Given the description of an element on the screen output the (x, y) to click on. 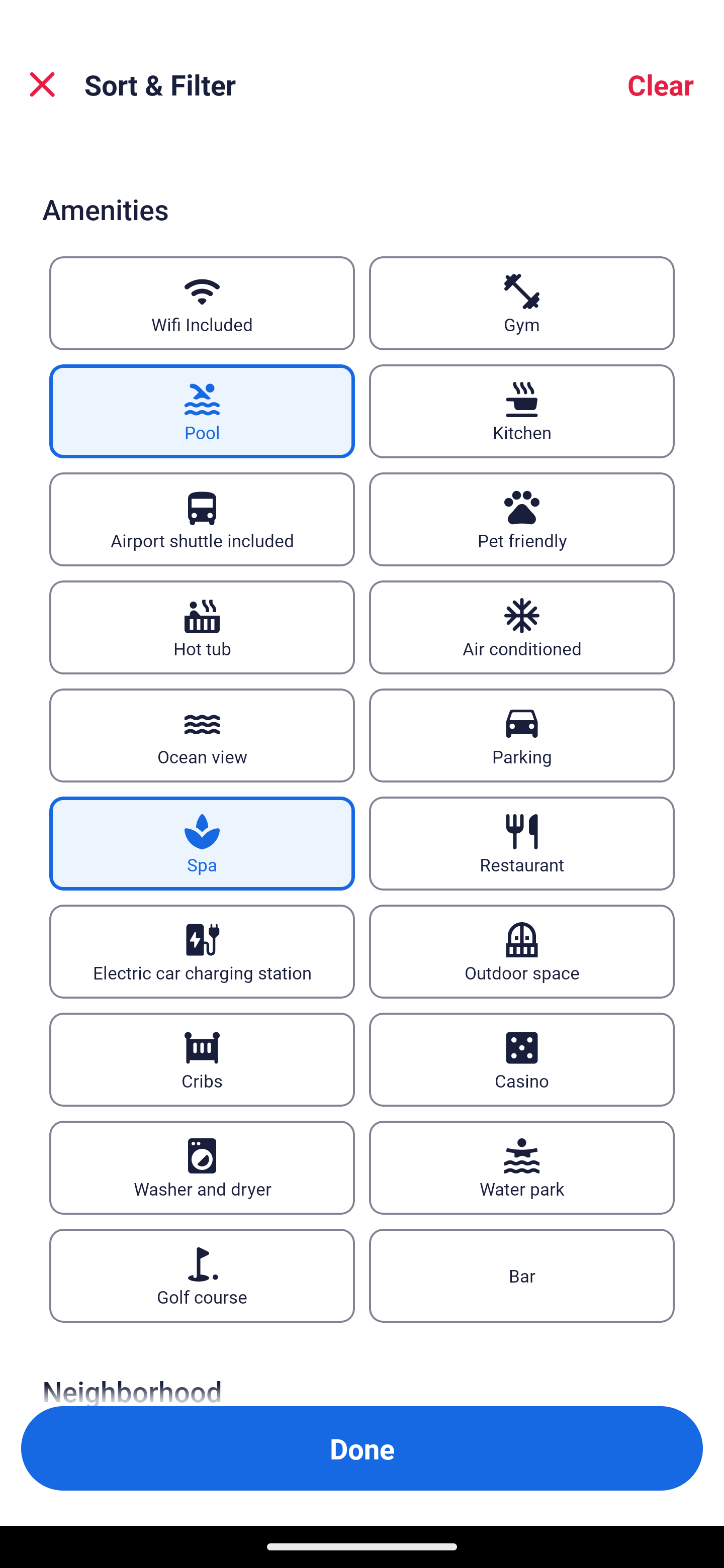
Close Sort and Filter (42, 84)
Clear (660, 84)
Wifi Included (201, 302)
Gym (521, 302)
Pool (201, 410)
Kitchen (521, 410)
Airport shuttle included (201, 518)
Pet friendly (521, 518)
Hot tub (201, 627)
Air conditioned (521, 627)
Ocean view (201, 735)
Parking (521, 735)
Spa (201, 843)
Restaurant (521, 843)
Electric car charging station (201, 951)
Outdoor space (521, 951)
Cribs (201, 1059)
Casino (521, 1059)
Washer and dryer (201, 1168)
Water park (521, 1168)
Golf course (201, 1276)
Bar (521, 1276)
Apply and close Sort and Filter Done (361, 1448)
